Given the description of an element on the screen output the (x, y) to click on. 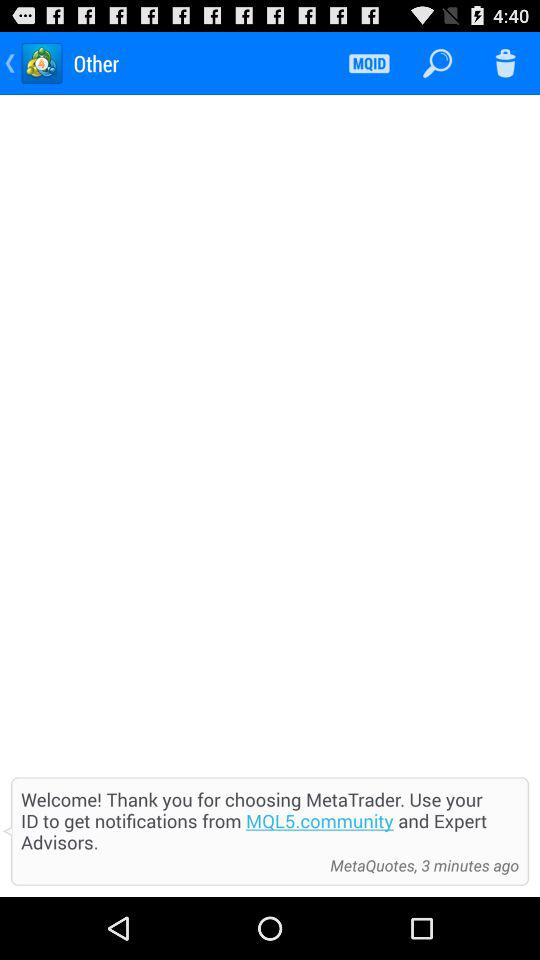
tap icon below the welcome thank you icon (419, 865)
